Given the description of an element on the screen output the (x, y) to click on. 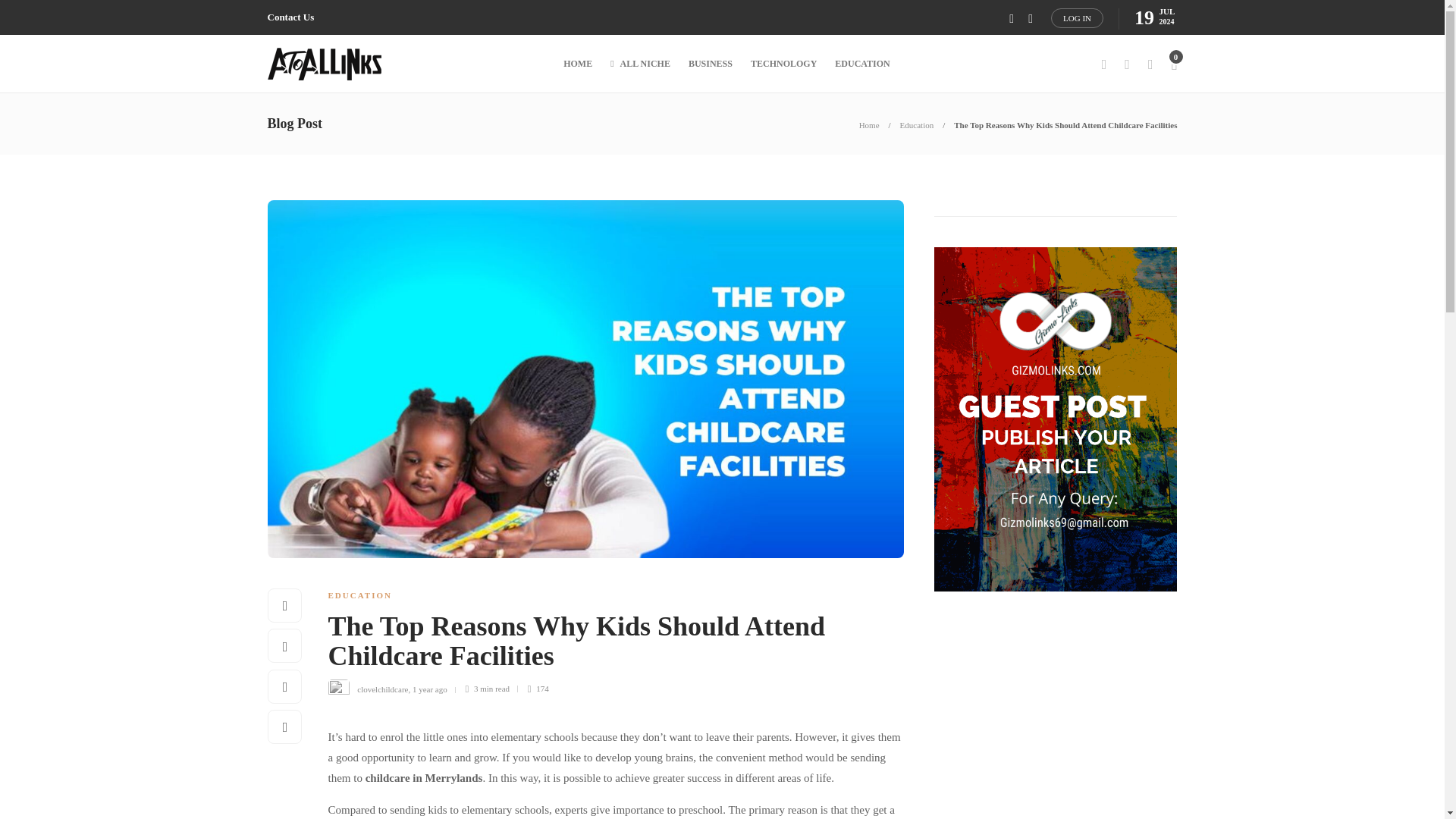
Home (869, 124)
EDUCATION (359, 594)
Education (916, 124)
The Top Reasons Why Kids Should Attend Childcare Facilities (1064, 124)
LOG IN (1077, 17)
EDUCATION (861, 63)
Home (869, 124)
TECHNOLOGY (783, 63)
clovelchildcare (381, 687)
Contact Us (290, 17)
The Top Reasons Why Kids Should Attend Childcare Facilities  (603, 645)
ALL NICHE (639, 63)
